Given the description of an element on the screen output the (x, y) to click on. 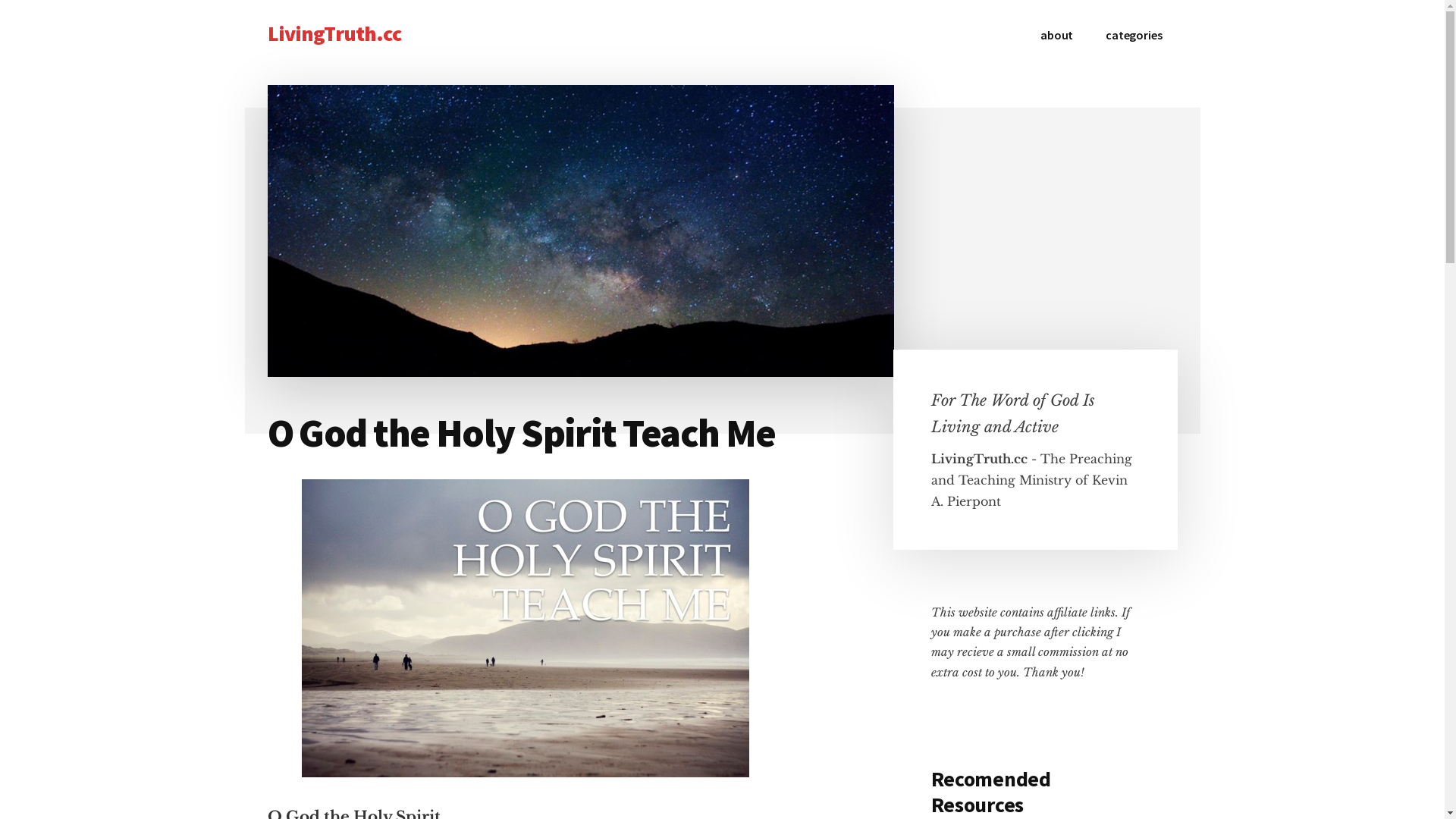
Skip to main content Element type: text (0, 0)
about Element type: text (1056, 34)
LivingTruth.cc Element type: text (333, 33)
categories Element type: text (1133, 34)
